Given the description of an element on the screen output the (x, y) to click on. 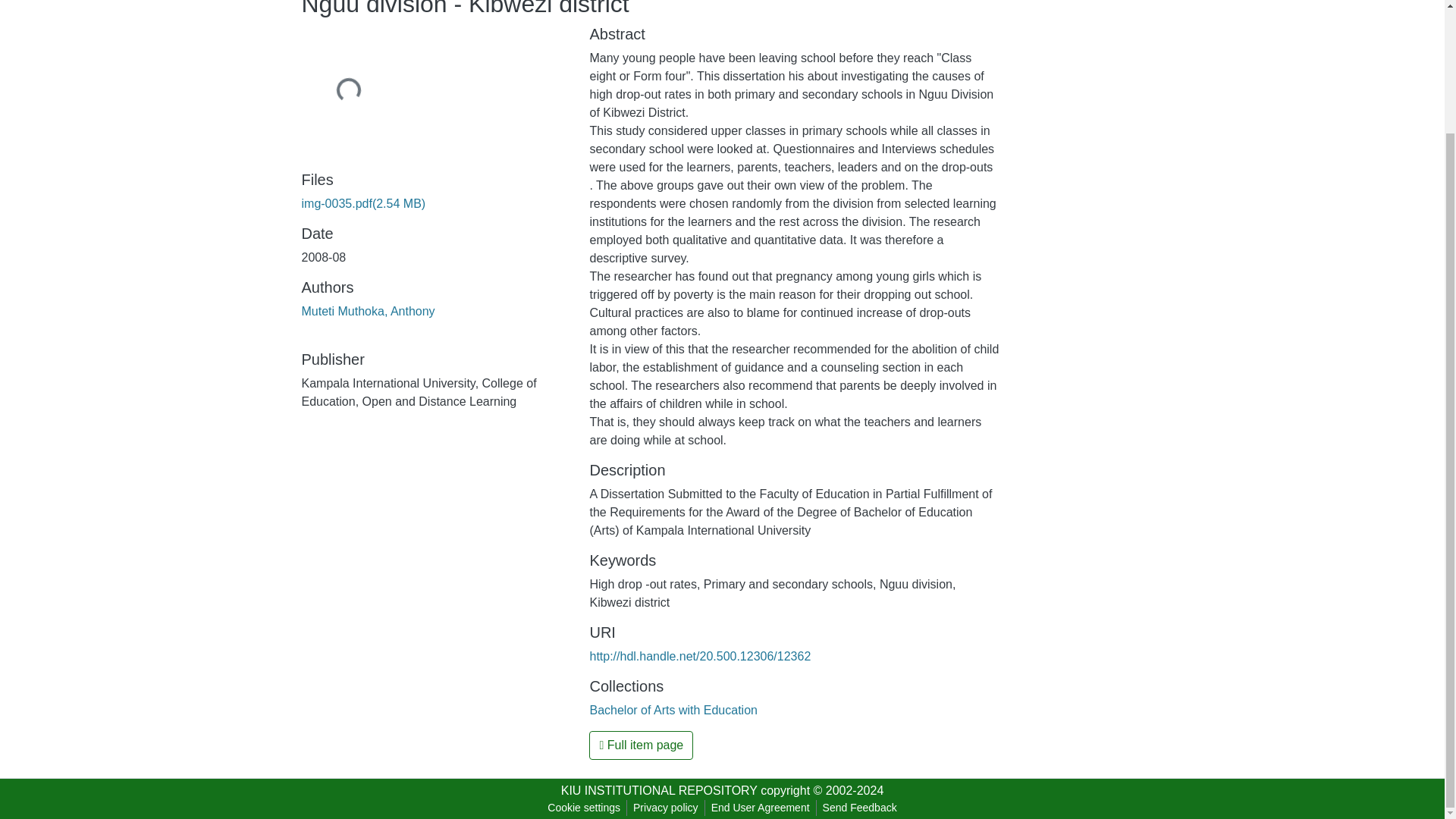
KIU INSTITUTIONAL REPOSITORY (658, 789)
Full item page (641, 745)
Send Feedback (859, 807)
Bachelor of Arts with Education (673, 709)
Cookie settings (583, 807)
Muteti Muthoka, Anthony (368, 310)
End User Agreement (759, 807)
Privacy policy (665, 807)
